Given the description of an element on the screen output the (x, y) to click on. 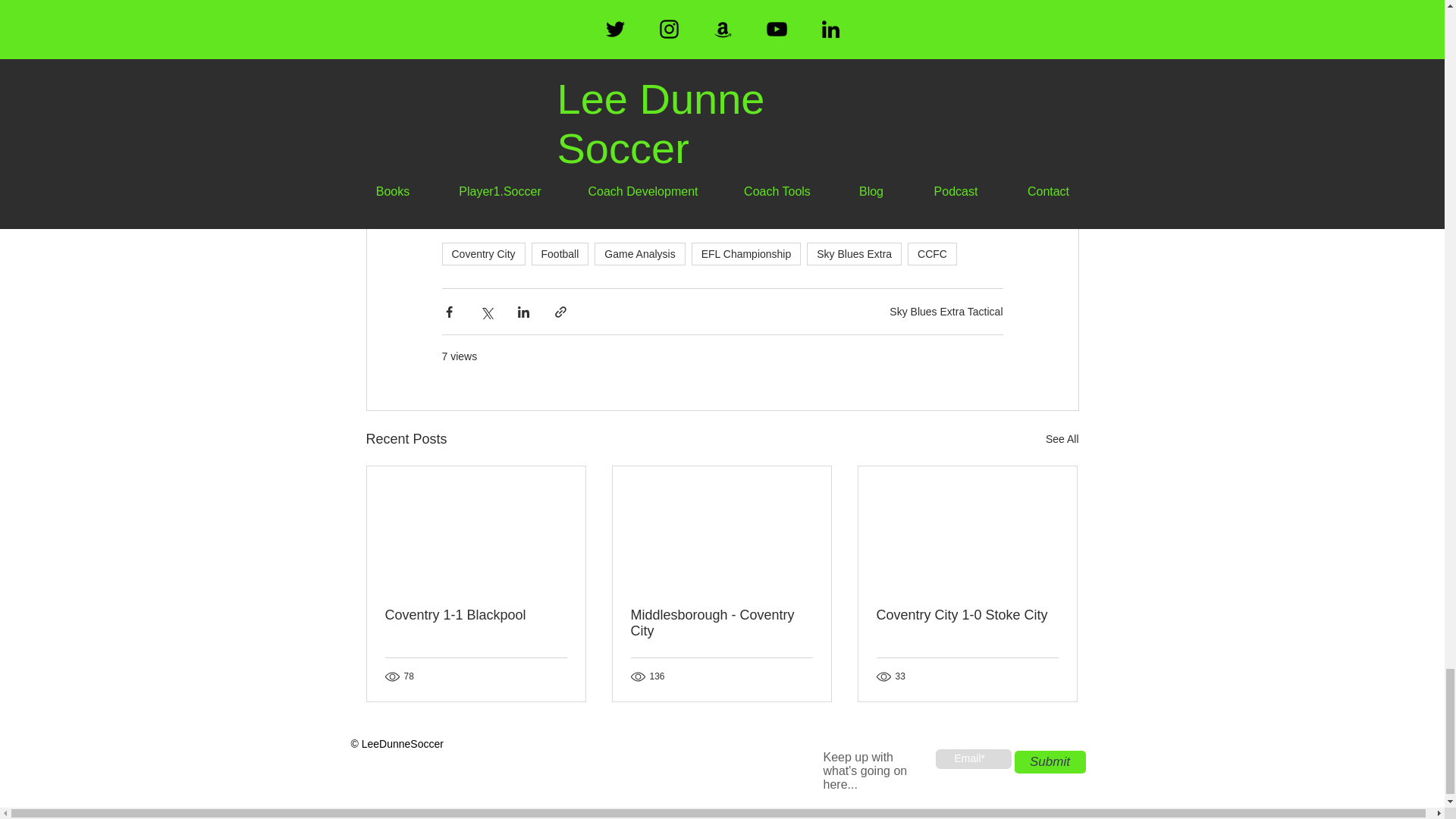
whoscored (554, 32)
EFL Championship (746, 253)
SBETactical (491, 53)
Football (560, 253)
Game Analysis (639, 253)
CCFC (931, 253)
Coventry City (482, 253)
LeeDunneSoccer (507, 94)
SkyBluesExtra (499, 73)
Sky Blues Extra (853, 253)
